Given the description of an element on the screen output the (x, y) to click on. 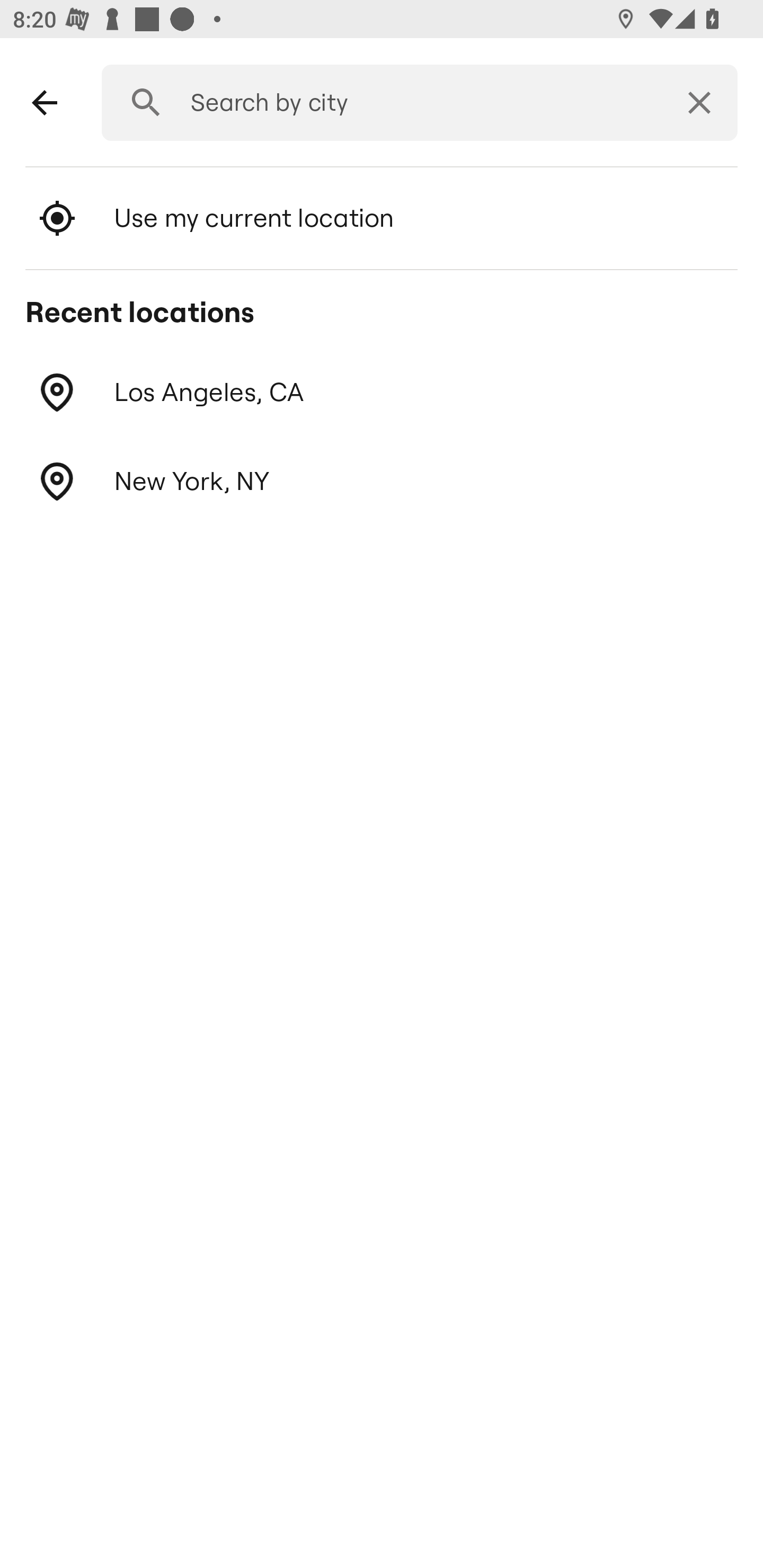
Back (44, 102)
Search by city (413, 102)
Clear (699, 102)
Use my current location (381, 218)
Los Angeles, CA (381, 392)
New York, NY (381, 481)
